Given the description of an element on the screen output the (x, y) to click on. 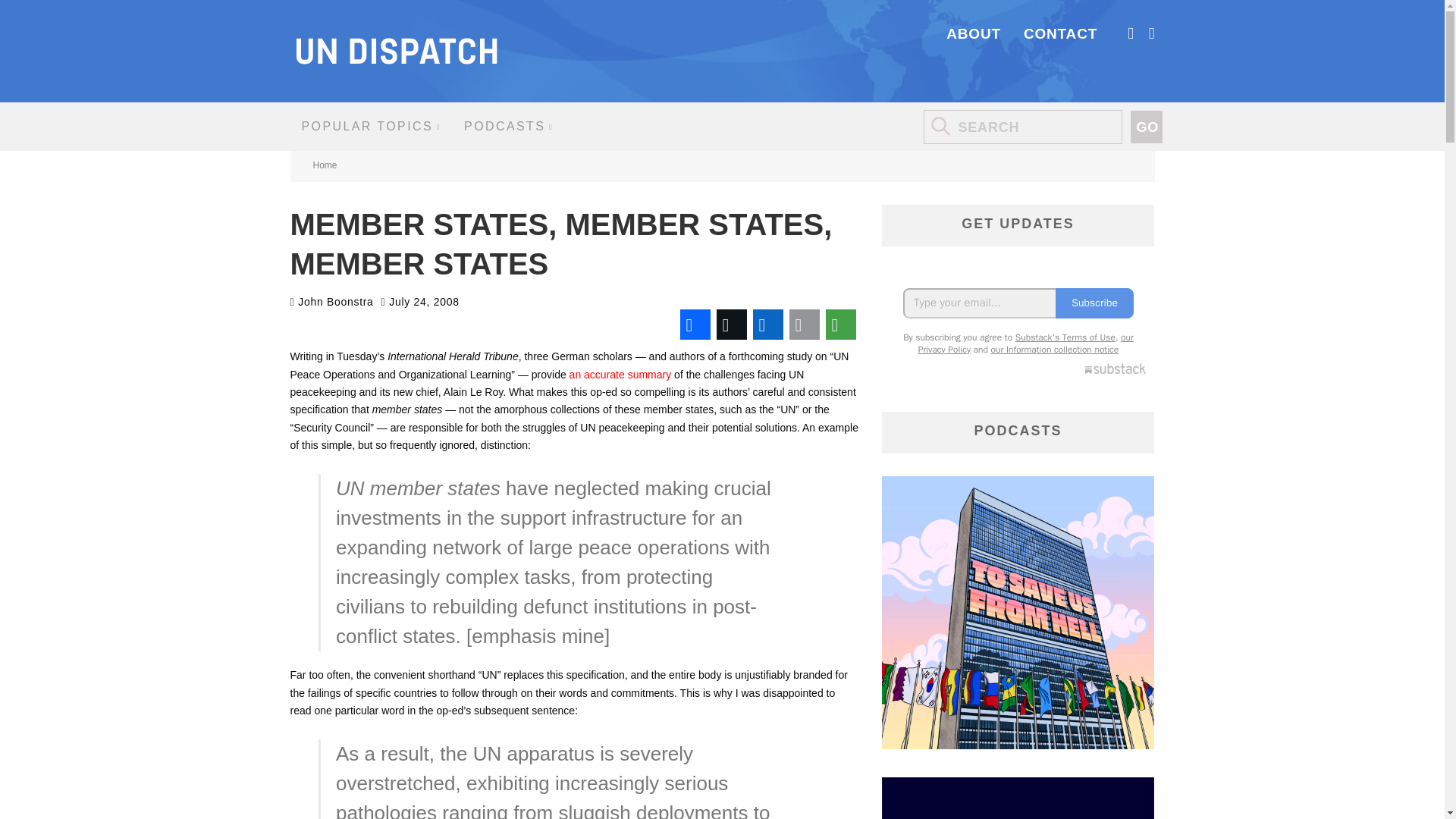
Go (1145, 126)
Facebook (695, 324)
LinkedIn (767, 324)
Go (1145, 126)
ABOUT (973, 33)
PODCASTS (508, 126)
Home (324, 164)
More Options (840, 324)
Go (1145, 126)
John Boonstra (330, 301)
Email This (804, 324)
CONTACT (1060, 33)
an accurate summary (620, 374)
POPULAR TOPICS (370, 126)
